Given the description of an element on the screen output the (x, y) to click on. 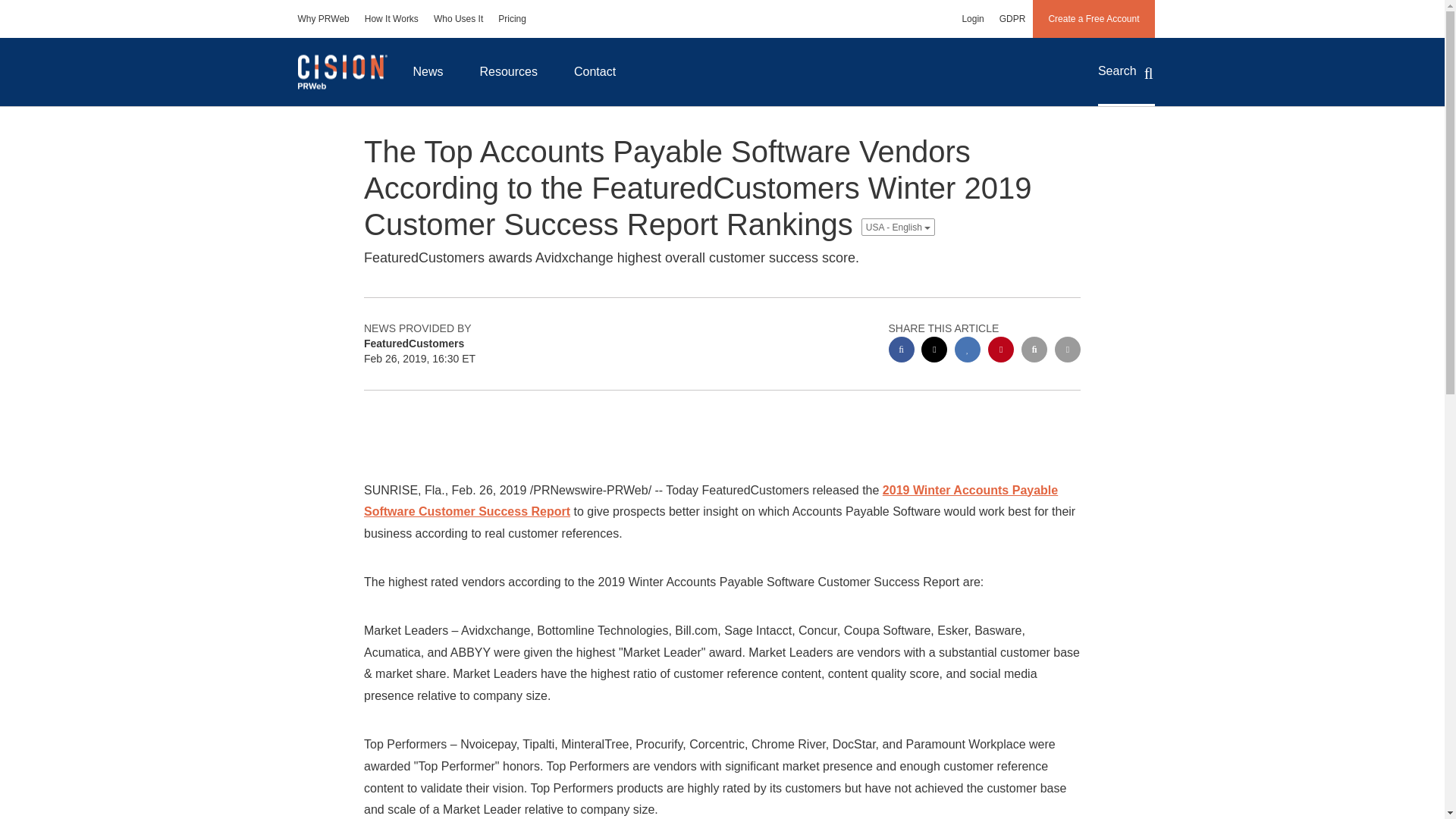
How It Works (391, 18)
News (427, 71)
Contact (594, 71)
Pricing (512, 18)
Login (972, 18)
Who Uses It (458, 18)
Create a Free Account (1093, 18)
GDPR (1012, 18)
Resources (508, 71)
Why PRWeb (322, 18)
